Given the description of an element on the screen output the (x, y) to click on. 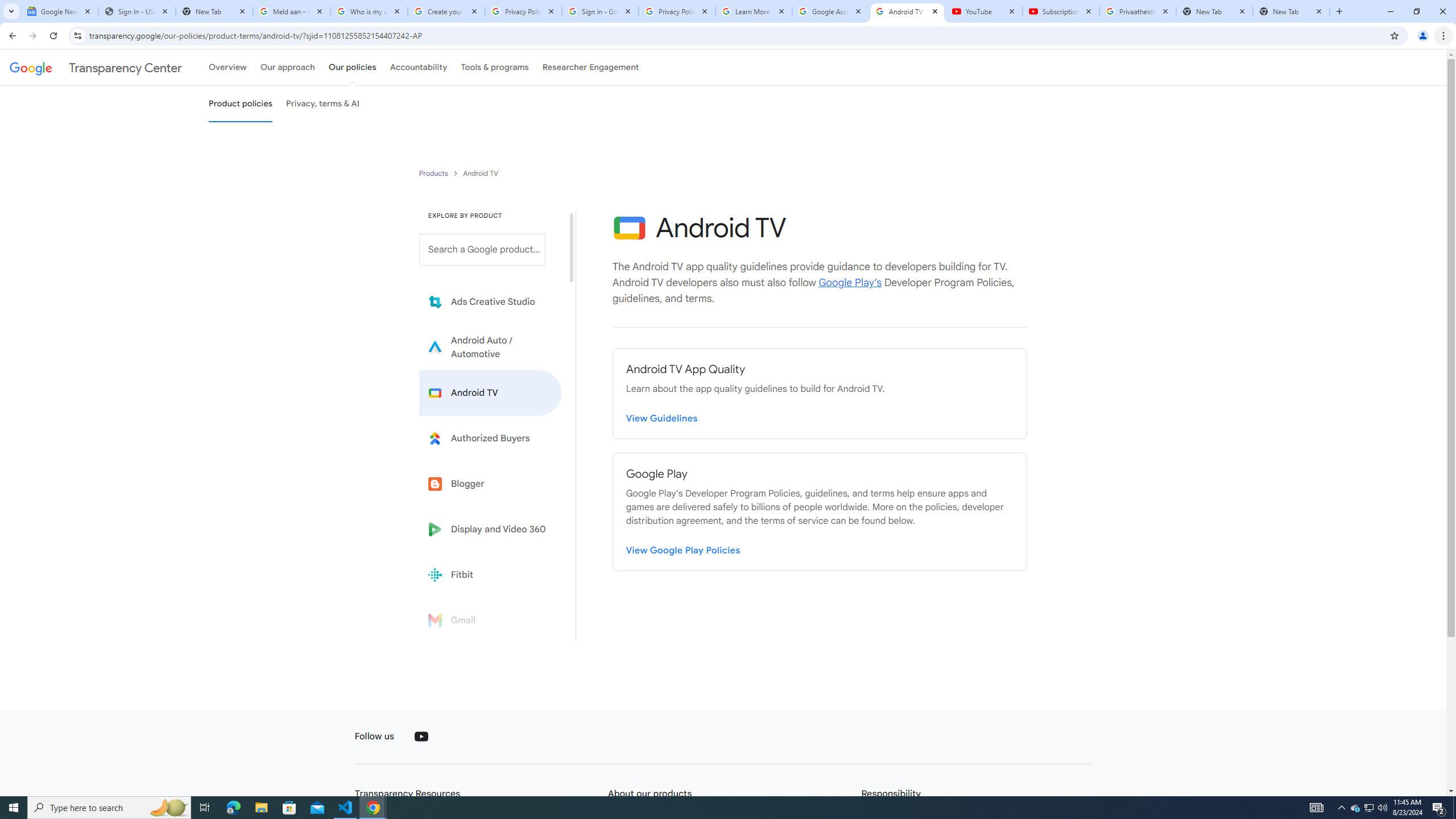
Learn more about Authorized Buyers (490, 438)
Privacy, terms & AI (322, 103)
View Guidelines (661, 416)
Subscriptions - YouTube (1061, 11)
Search a Google product from below list. (481, 249)
Fitbit (490, 574)
Our approach (287, 67)
Learn more about Ads Creative Studio (490, 302)
Our policies (351, 67)
